Given the description of an element on the screen output the (x, y) to click on. 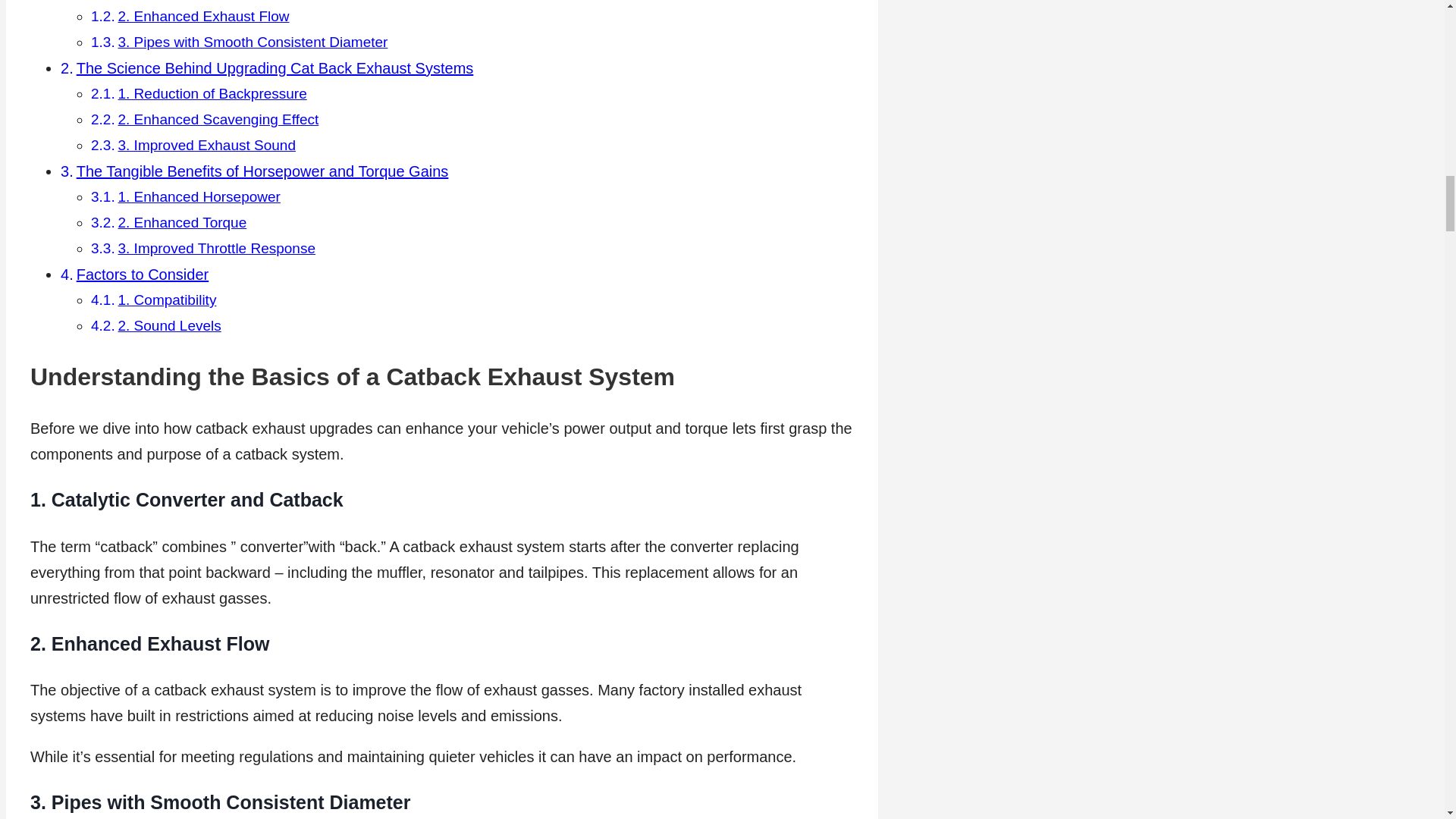
Factors to Consider (143, 274)
2. Enhanced Torque (182, 222)
1. Compatibility (166, 299)
2. Enhanced Exhaust Flow (203, 16)
1. Reduction of Backpressure (212, 93)
3. Improved Exhaust Sound (206, 145)
3. Pipes with Smooth Consistent Diameter (252, 41)
3. Improved Throttle Response (216, 248)
The Science Behind Upgrading Cat Back Exhaust Systems (275, 67)
The Tangible Benefits of Horsepower and Torque Gains (262, 170)
2. Enhanced Scavenging Effect (217, 119)
1. Enhanced Horsepower (199, 196)
